Given the description of an element on the screen output the (x, y) to click on. 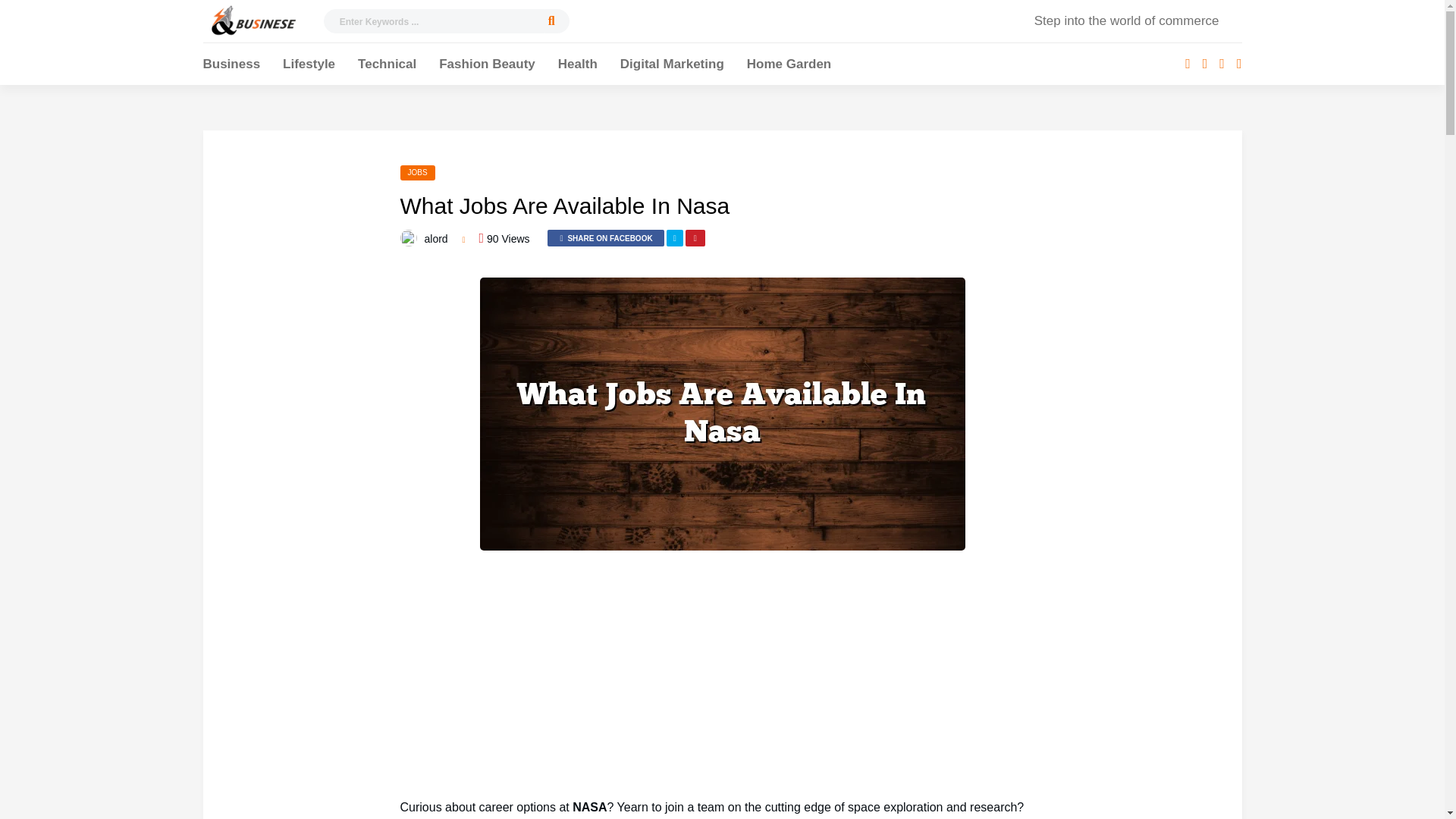
Technical (387, 65)
Lifestyle (308, 65)
alord (436, 238)
SHARE ON FACEBOOK (605, 238)
JOBS (417, 172)
Fashion Beauty (487, 65)
Home Garden (788, 65)
Business (231, 65)
Health (576, 65)
Digital Marketing (671, 65)
